Given the description of an element on the screen output the (x, y) to click on. 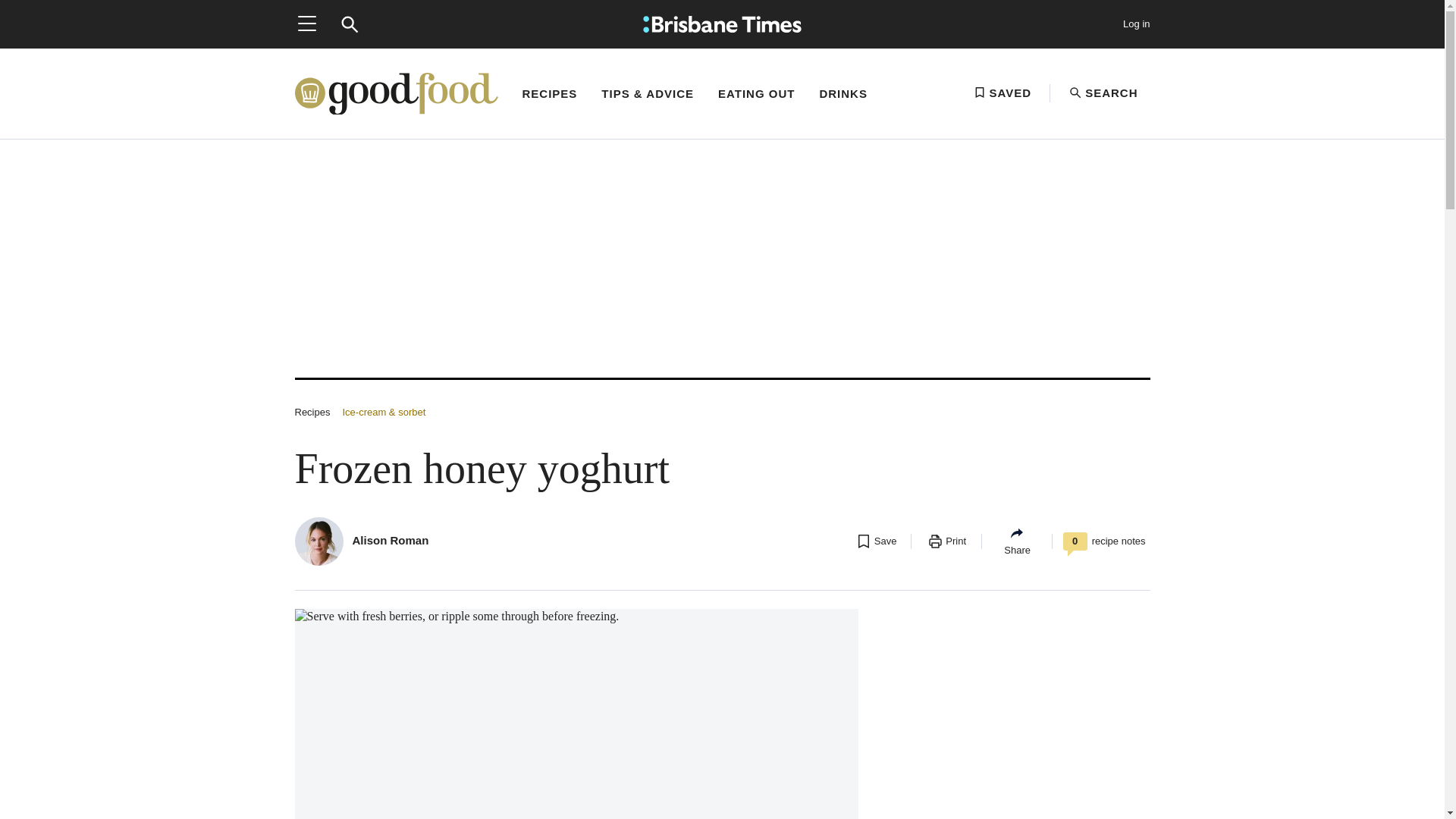
Log in (1136, 24)
EATING OUT (755, 108)
Recipes (312, 411)
RECIPES (548, 108)
Print (946, 541)
Alison Roman (390, 540)
Good Food logo (395, 92)
Save (875, 541)
Good Food logo (395, 93)
Expand navigation menu (306, 24)
